Given the description of an element on the screen output the (x, y) to click on. 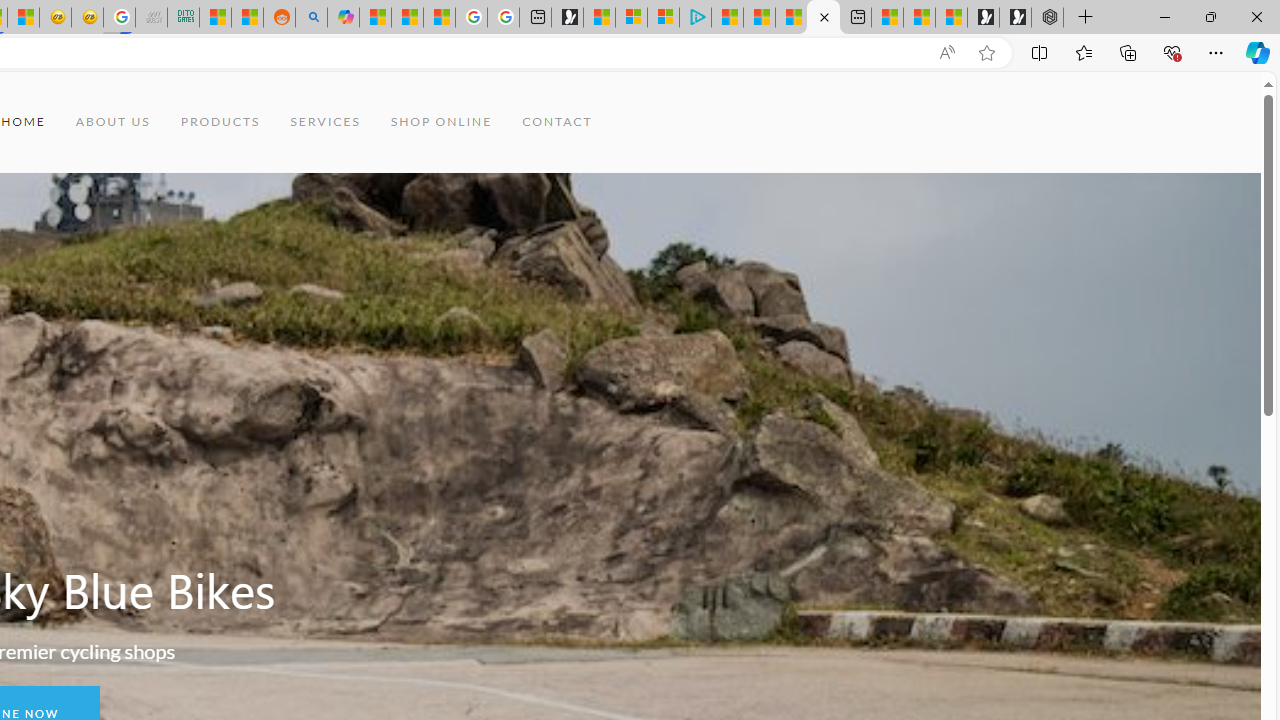
CONTACT (557, 122)
Microsoft account | Privacy (663, 17)
DITOGAMES AG Imprint (182, 17)
MSNBC - MSN (215, 17)
Home | Sky Blue Bikes - Sky Blue Bikes (822, 17)
CONTACT (557, 122)
ABOUT US (113, 122)
